Given the description of an element on the screen output the (x, y) to click on. 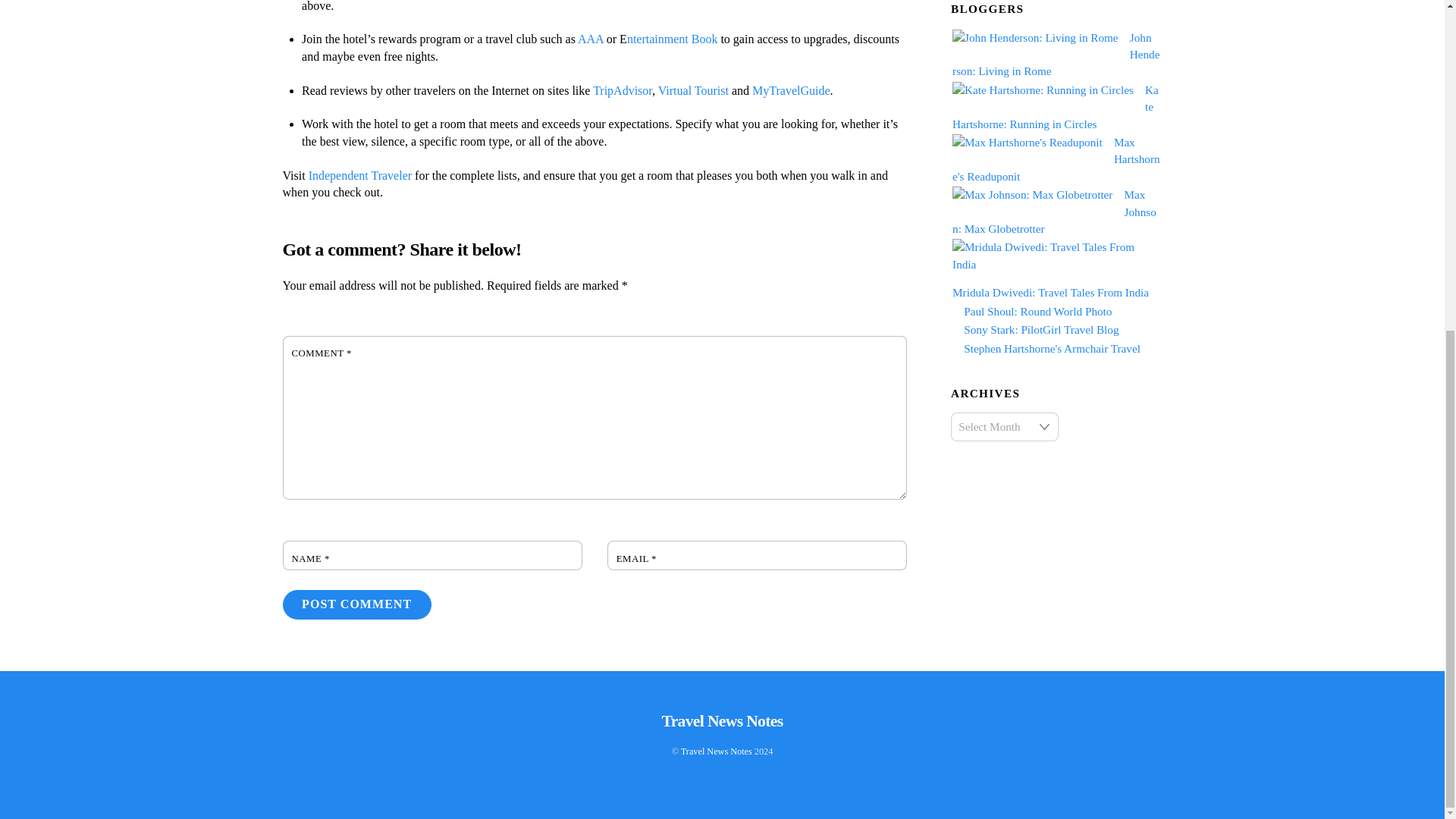
MyTravelGuide (790, 90)
Sony Stark: PilotGirl Travel Blog (1040, 328)
Max Hartshorne's Readuponit (1056, 158)
Virtual Tourist (693, 90)
AAA (591, 38)
Max Johnson: Max Globetrotter (1054, 211)
ntertainment Book (672, 38)
Independent Traveler (360, 174)
Post Comment (356, 604)
